Given the description of an element on the screen output the (x, y) to click on. 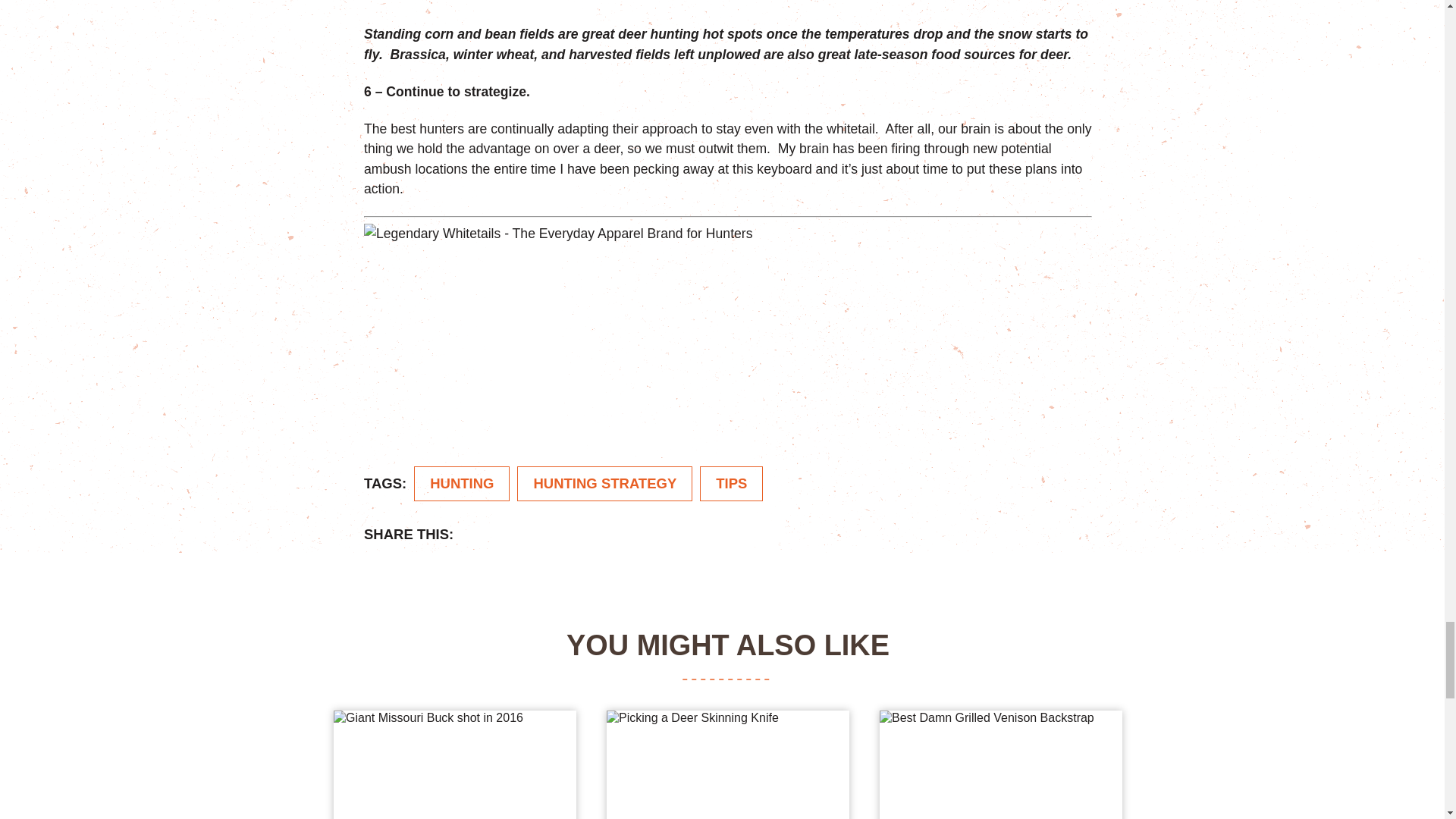
HUNTING (461, 483)
TIPS (731, 483)
HUNTING STRATEGY (604, 483)
